Given the description of an element on the screen output the (x, y) to click on. 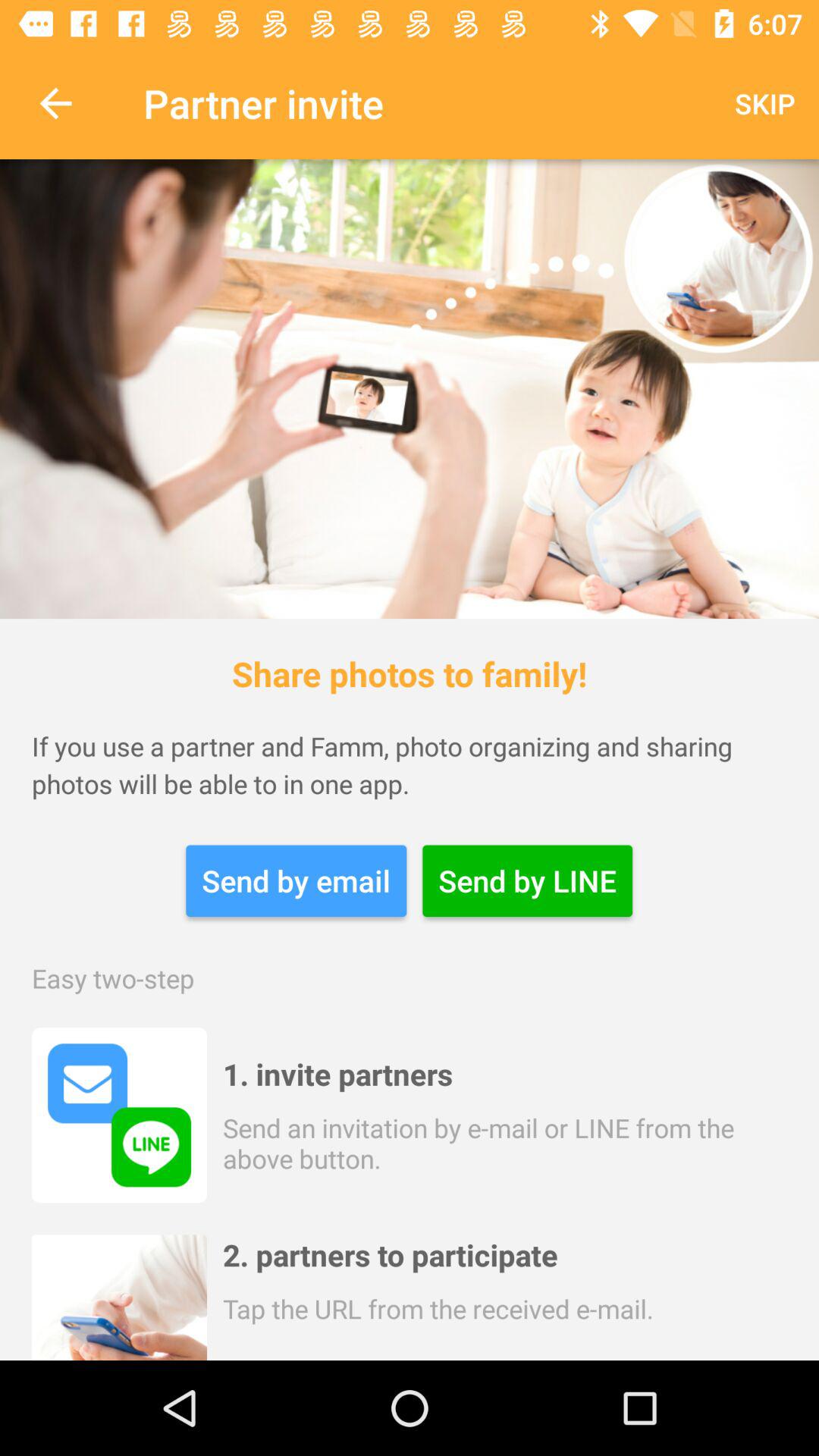
choose item next to the partner invite icon (55, 103)
